Given the description of an element on the screen output the (x, y) to click on. 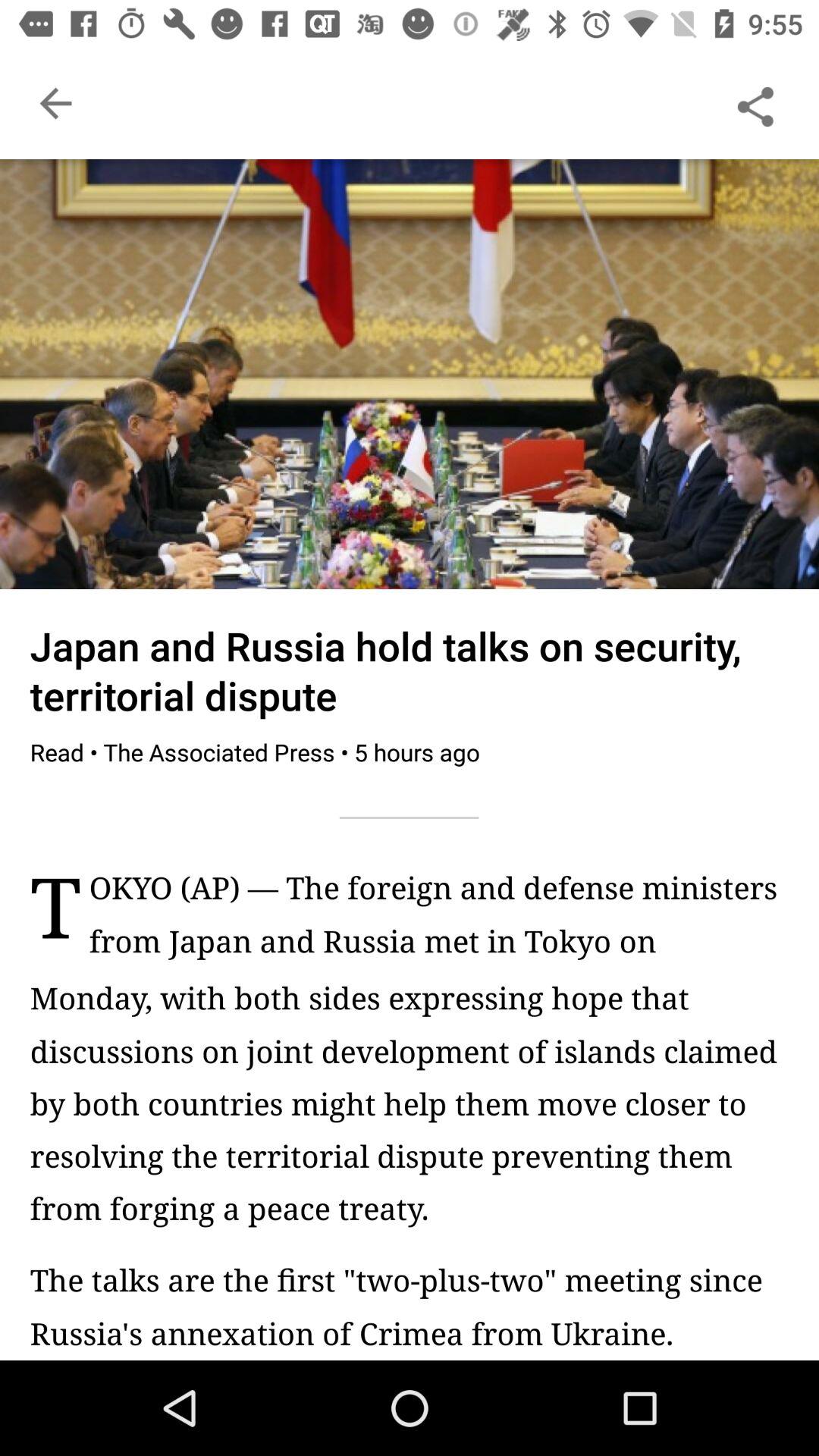
share the article (755, 103)
